Given the description of an element on the screen output the (x, y) to click on. 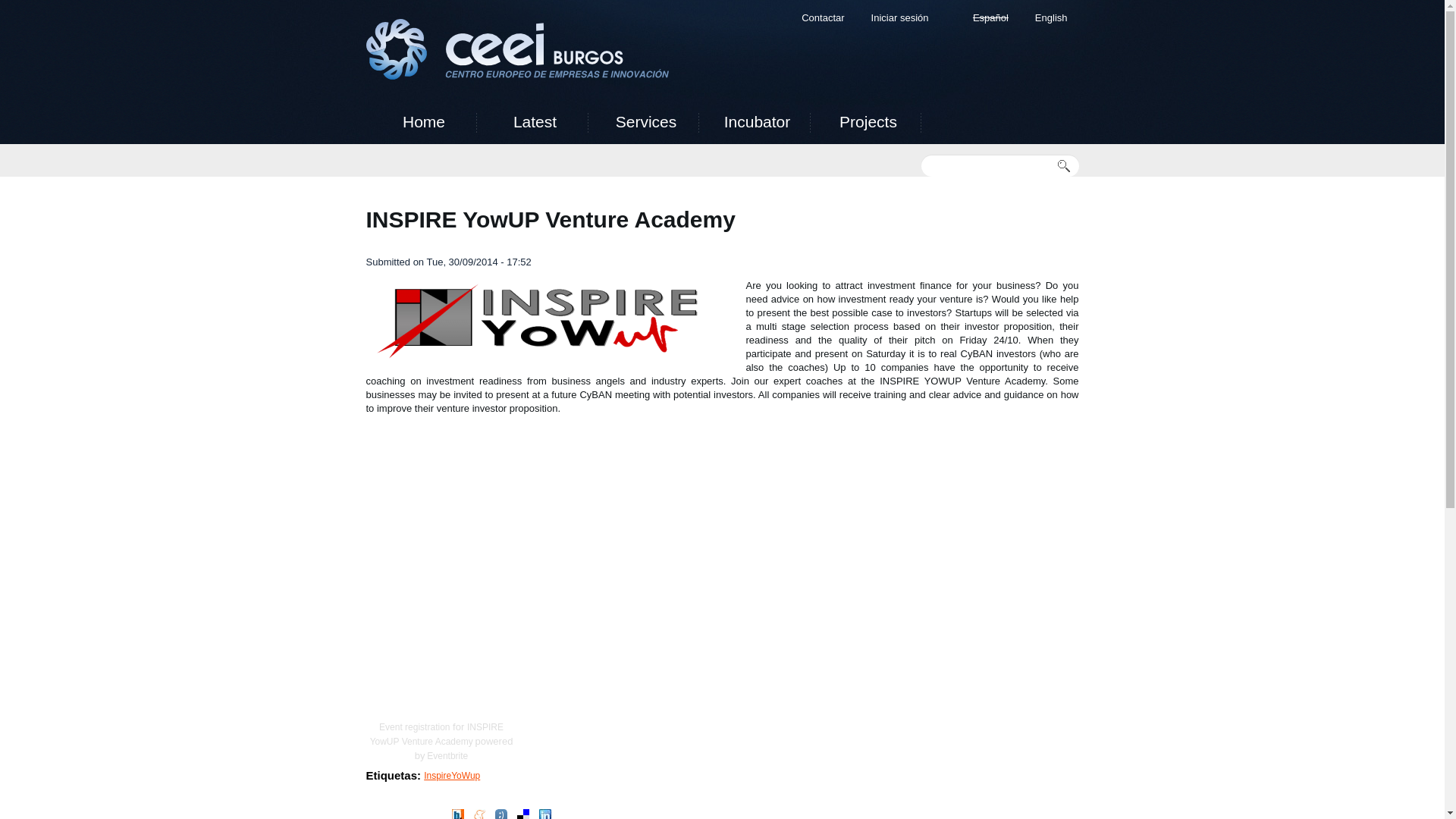
Publicar en LinkedIn (544, 815)
Event registration (413, 726)
Contactar (823, 17)
Enter the terms you wish to search for. (987, 165)
Search (1067, 165)
Projects (868, 121)
Publicar en Barrapunto.com (457, 815)
Home (424, 121)
Eventbrite (446, 756)
InspireYoWup (451, 775)
Bookmark this post on del.icio.us (522, 815)
INSPIRE YowUP Venture Academy (436, 733)
Home (516, 50)
Incubator (756, 121)
Services (645, 121)
